Given the description of an element on the screen output the (x, y) to click on. 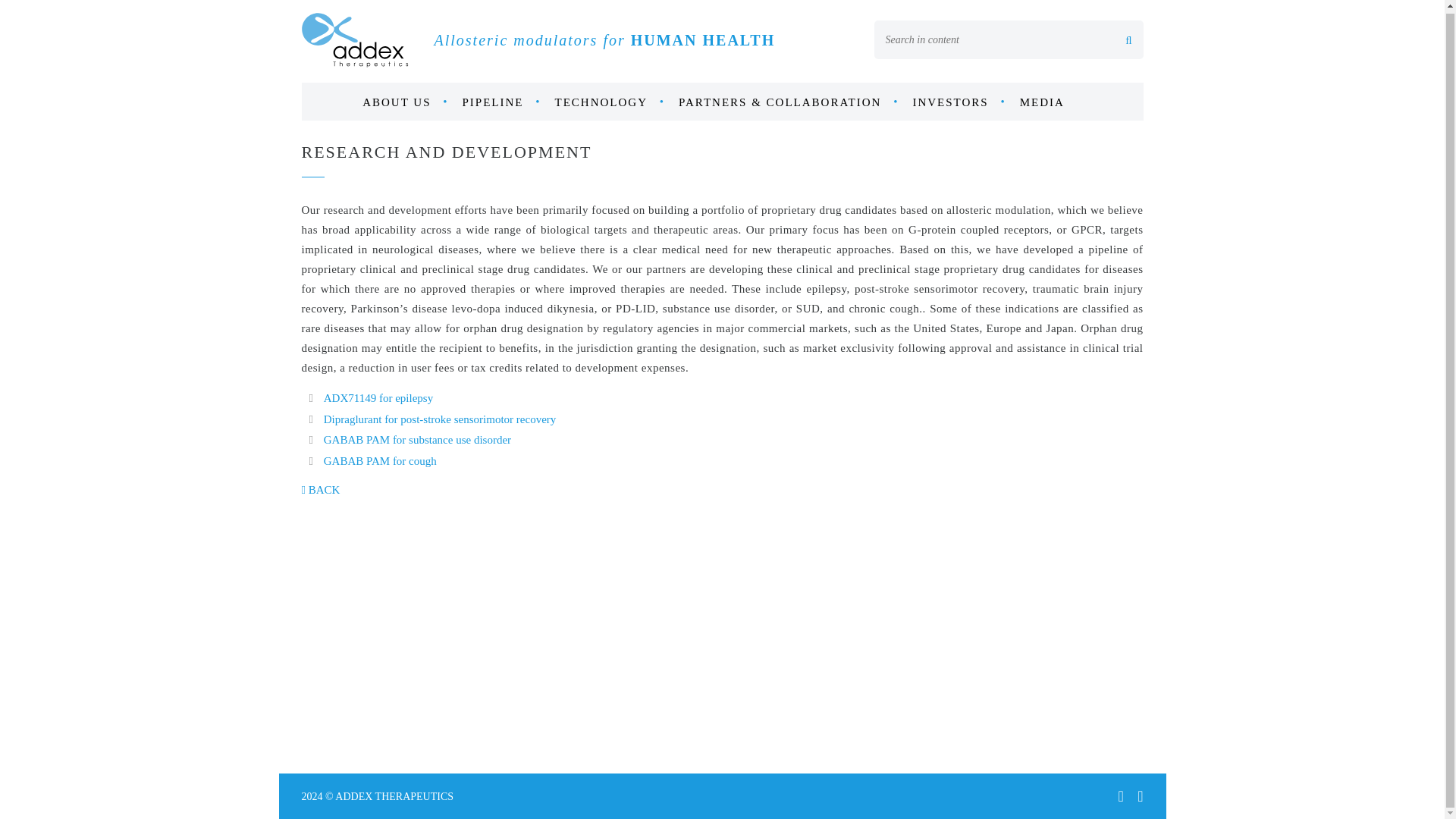
MEDIA (1050, 101)
GABAB PAM for cough (379, 460)
TECHNOLOGY (609, 101)
BACK (320, 490)
Dipraglurant for post-stroke sensorimotor recovery (439, 419)
ADX71149 for epilepsy (377, 398)
PIPELINE (502, 101)
INVESTORS (959, 101)
GABAB PAM for substance use disorder (417, 439)
ABOUT US (405, 101)
